Given the description of an element on the screen output the (x, y) to click on. 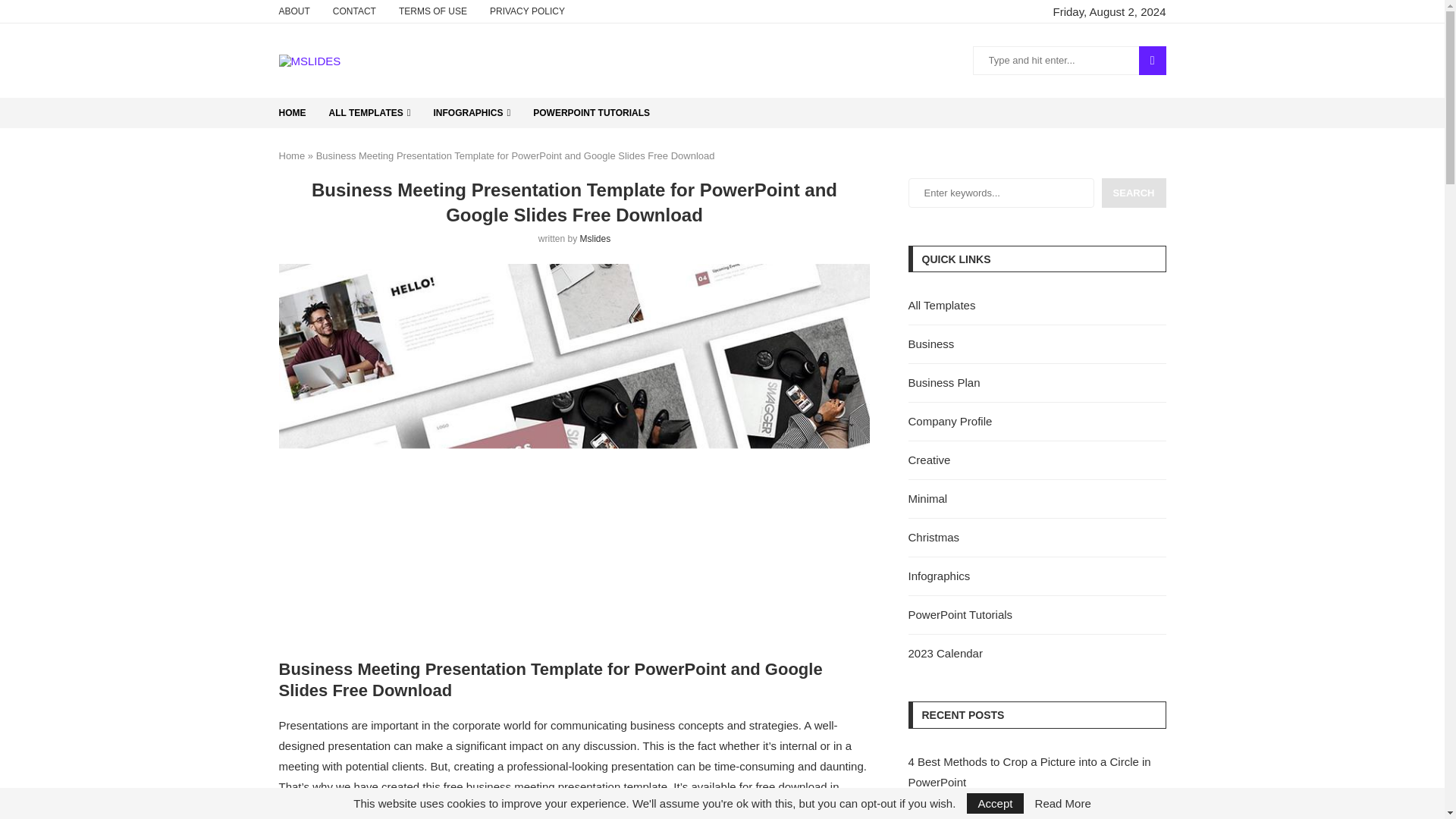
ABOUT (294, 11)
SEARCH (1152, 60)
CONTACT (354, 11)
HOME (292, 112)
ALL TEMPLATES (369, 112)
TERMS OF USE (432, 11)
INFOGRAPHICS (471, 112)
PRIVACY POLICY (526, 11)
